Given the description of an element on the screen output the (x, y) to click on. 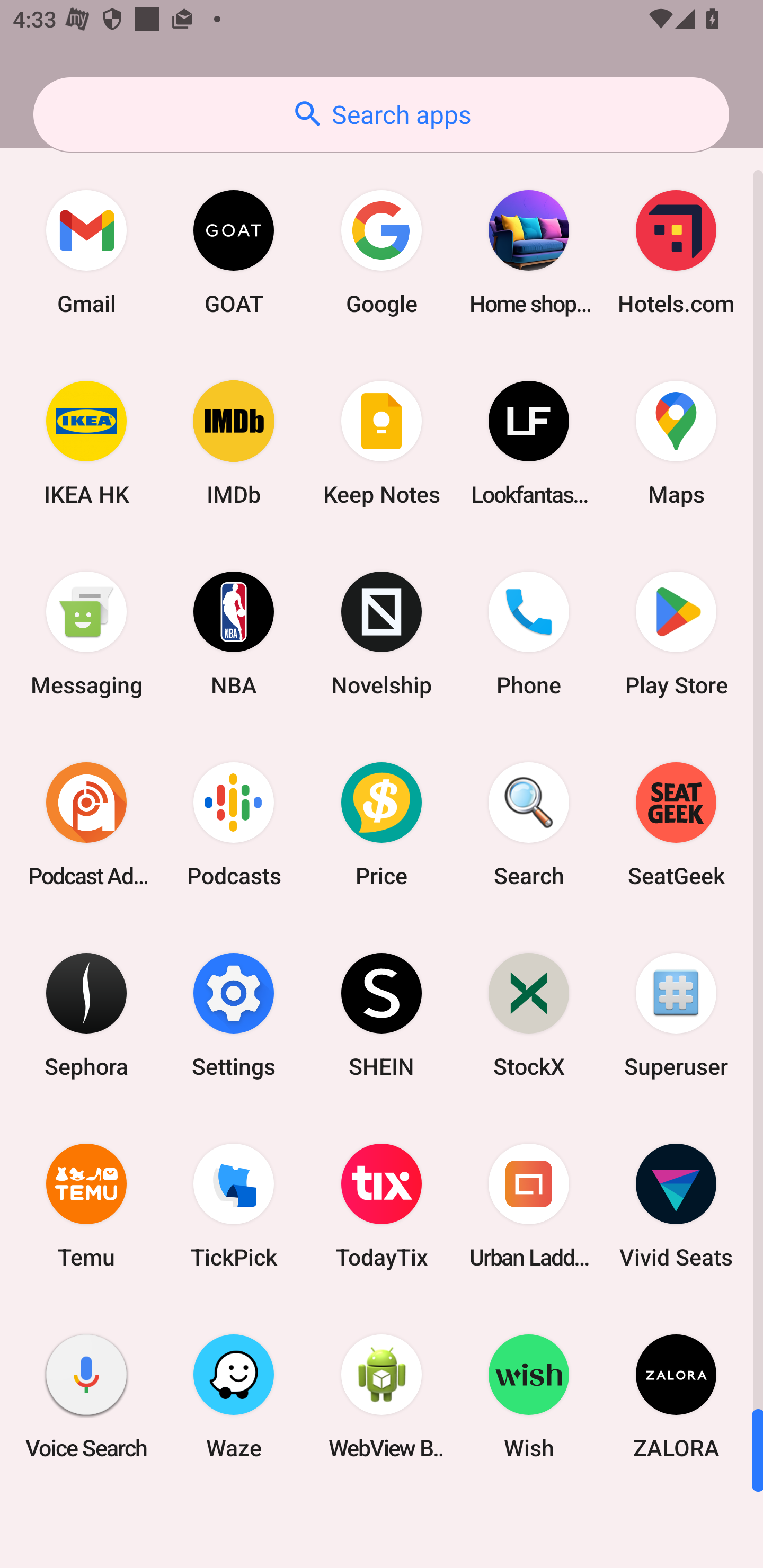
  Search apps (381, 114)
Gmail (86, 252)
GOAT (233, 252)
Google (381, 252)
Home shopping (528, 252)
Hotels.com (676, 252)
IKEA HK (86, 442)
IMDb (233, 442)
Keep Notes (381, 442)
Lookfantastic (528, 442)
Maps (676, 442)
Messaging (86, 633)
NBA (233, 633)
Novelship (381, 633)
Phone (528, 633)
Play Store (676, 633)
Podcast Addict (86, 823)
Podcasts (233, 823)
Price (381, 823)
Search (528, 823)
SeatGeek (676, 823)
Sephora (86, 1014)
Settings (233, 1014)
SHEIN (381, 1014)
StockX (528, 1014)
Superuser (676, 1014)
Temu (86, 1205)
TickPick (233, 1205)
TodayTix (381, 1205)
Urban Ladder (528, 1205)
Vivid Seats (676, 1205)
Voice Search (86, 1396)
Waze (233, 1396)
WebView Browser Tester (381, 1396)
Wish (528, 1396)
ZALORA (676, 1396)
